Given the description of an element on the screen output the (x, y) to click on. 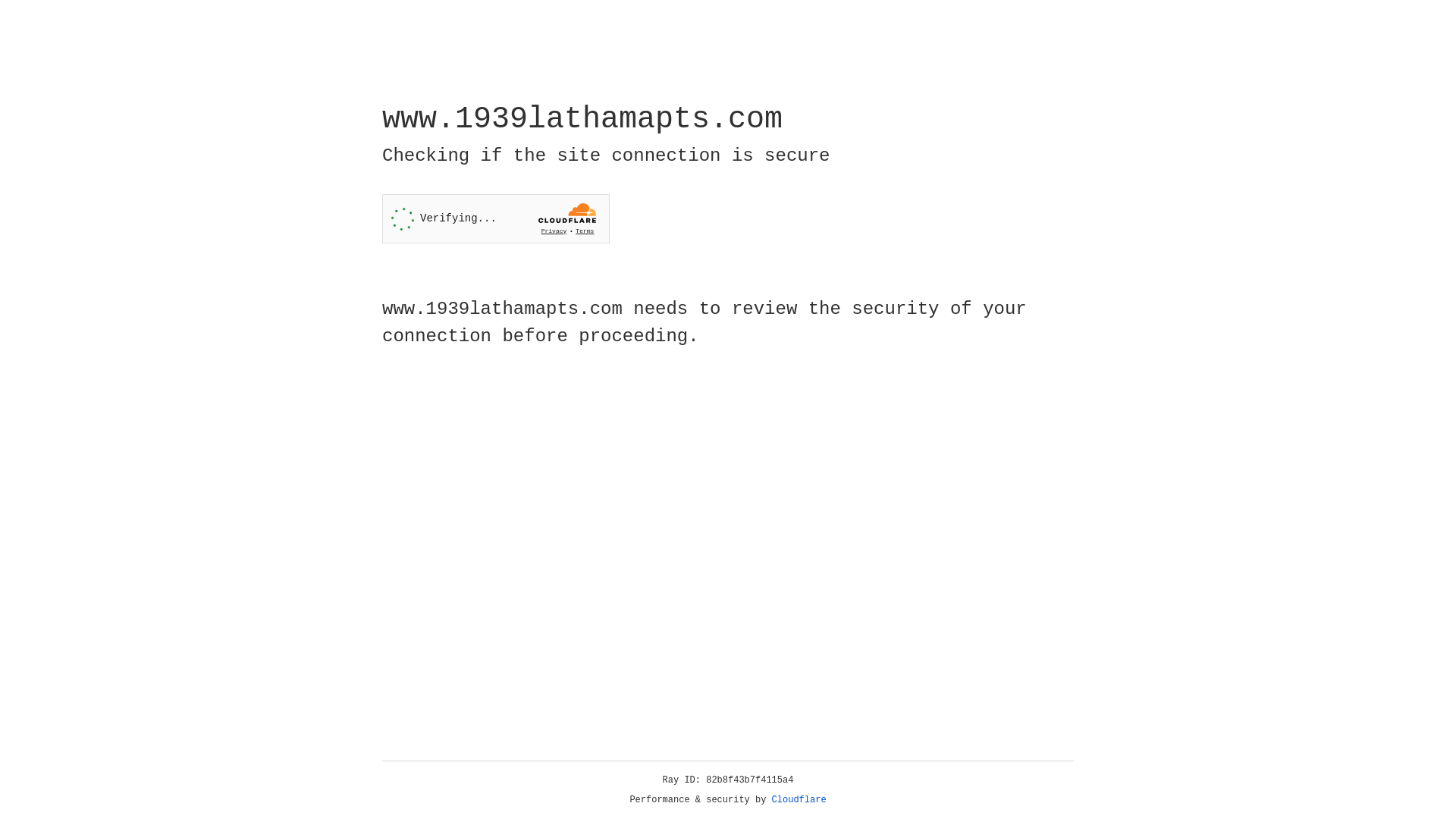
Cloudflare Element type: text (798, 799)
Widget containing a Cloudflare security challenge Element type: hover (495, 218)
